Given the description of an element on the screen output the (x, y) to click on. 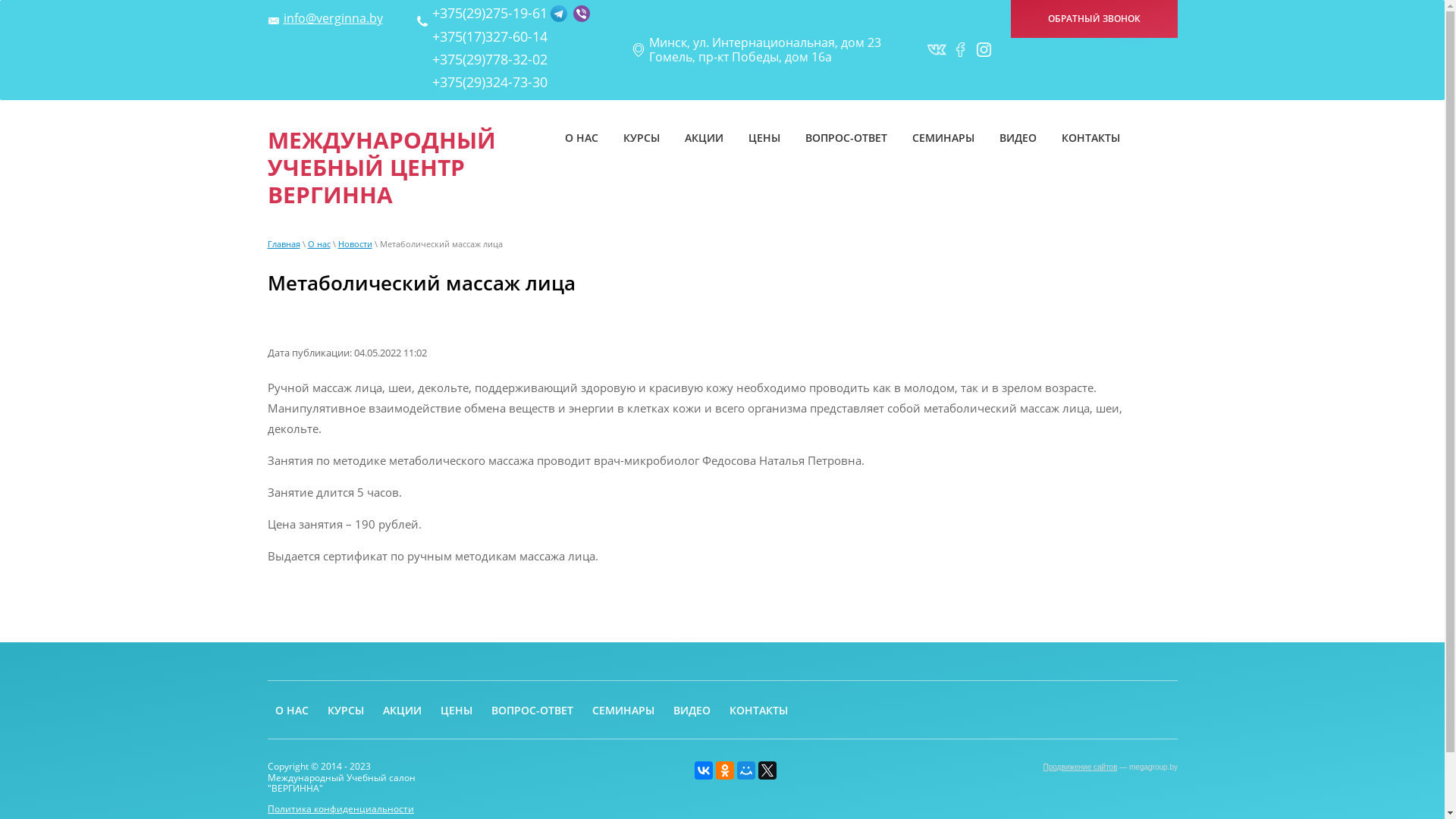
+375(17)327-60-14 Element type: text (489, 36)
+375(29)275-19-61 Element type: text (489, 13)
+375(29)324-73-30 Element type: text (489, 81)
+375(29)778-32-02 Element type: text (489, 59)
info@verginna.by Element type: text (332, 17)
Twitter Element type: hover (767, 770)
